Given the description of an element on the screen output the (x, y) to click on. 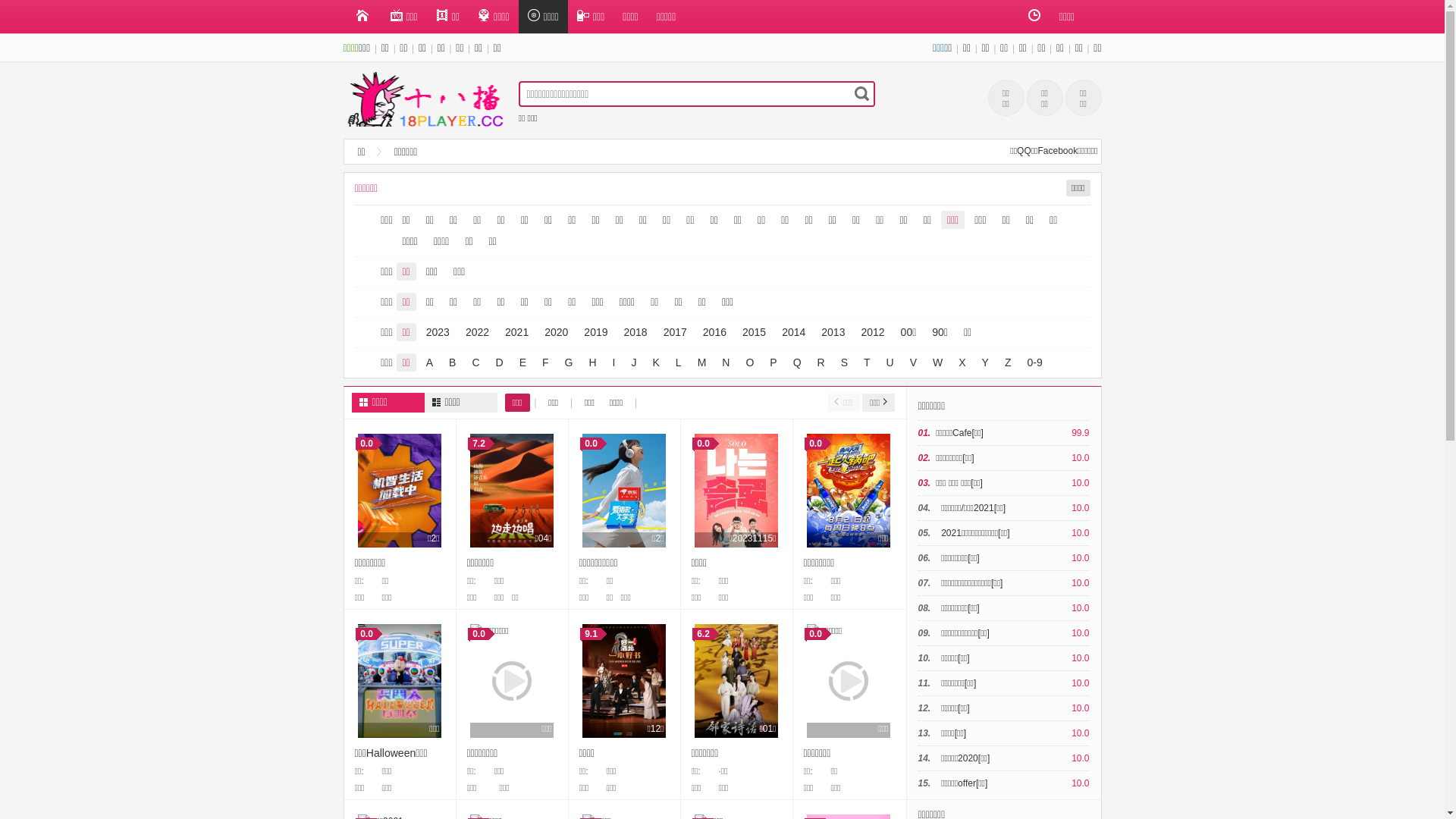
7.2 Element type: text (511, 490)
6.2 Element type: text (736, 680)
2022 Element type: text (477, 332)
G Element type: text (568, 362)
C Element type: text (475, 362)
U Element type: text (890, 362)
P Element type: text (772, 362)
I Element type: text (613, 362)
2015 Element type: text (753, 332)
Z Element type: text (1007, 362)
0.0 Element type: text (399, 680)
R Element type: text (821, 362)
0.0 Element type: text (623, 490)
X Element type: text (961, 362)
F Element type: text (545, 362)
Y Element type: text (984, 362)
H Element type: text (592, 362)
W Element type: text (937, 362)
2013 Element type: text (832, 332)
E Element type: text (522, 362)
0.0 Element type: text (511, 680)
J Element type: text (633, 362)
N Element type: text (725, 362)
2018 Element type: text (635, 332)
0.0 Element type: text (736, 490)
Facebook Element type: text (1057, 150)
2012 Element type: text (872, 332)
K Element type: text (655, 362)
2019 Element type: text (595, 332)
2016 Element type: text (714, 332)
0.0 Element type: text (848, 680)
9.1 Element type: text (623, 680)
L Element type: text (678, 362)
0-9 Element type: text (1034, 362)
2017 Element type: text (675, 332)
D Element type: text (499, 362)
2014 Element type: text (793, 332)
T Element type: text (866, 362)
M Element type: text (701, 362)
A Element type: text (429, 362)
2023 Element type: text (437, 332)
S Element type: text (843, 362)
Q Element type: text (797, 362)
2021 Element type: text (516, 332)
0.0 Element type: text (399, 490)
0.0 Element type: text (848, 490)
O Element type: text (749, 362)
V Element type: text (912, 362)
2020 Element type: text (556, 332)
B Element type: text (451, 362)
